Given the description of an element on the screen output the (x, y) to click on. 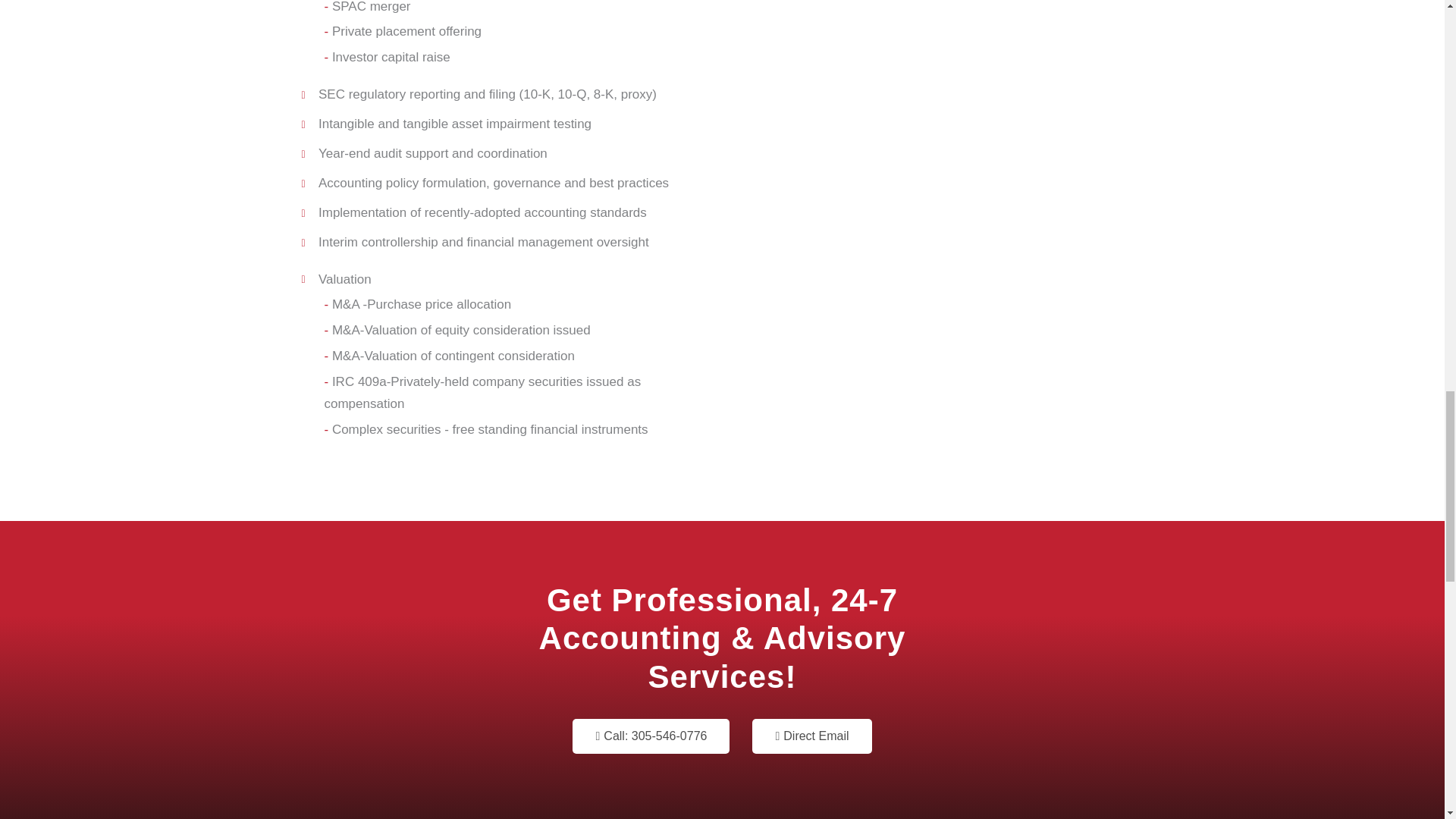
Call: 305-546-0776 (650, 736)
Direct Email (811, 736)
